Given the description of an element on the screen output the (x, y) to click on. 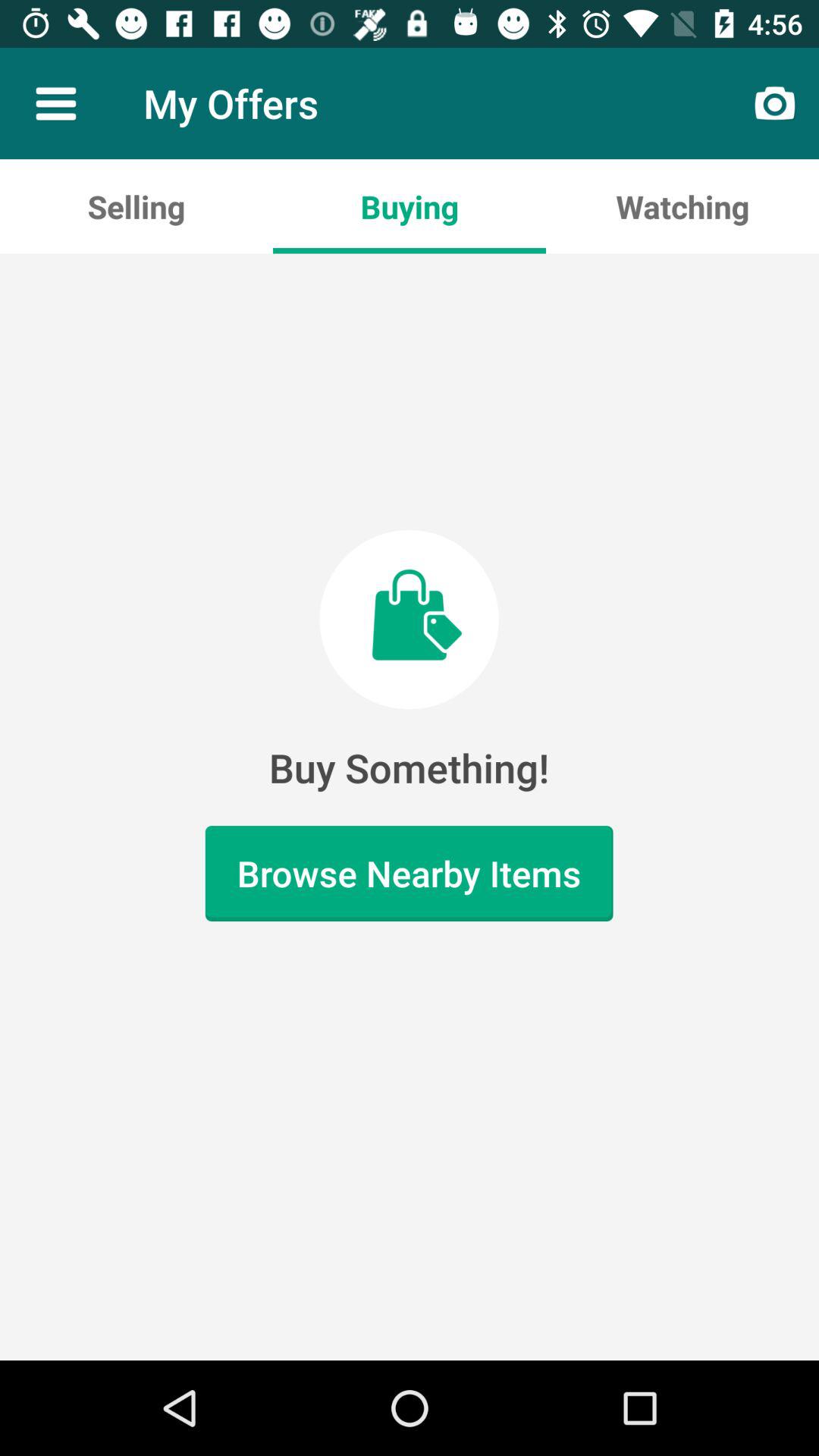
select the item to the right of the selling app (409, 206)
